Given the description of an element on the screen output the (x, y) to click on. 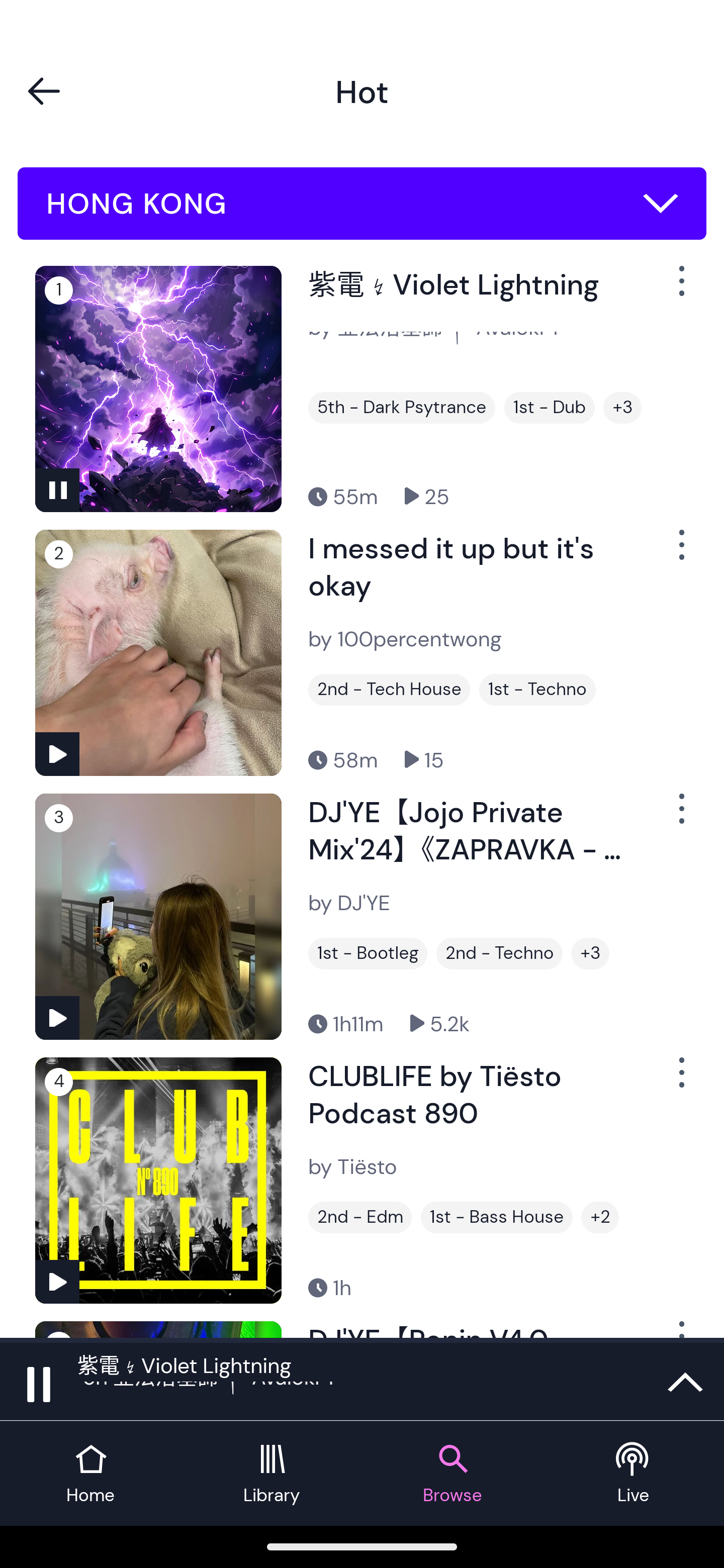
HONG KONG (361, 203)
Show Options Menu Button (679, 289)
5th - Dark Psytrance (401, 407)
1st - Dub (549, 407)
Show Options Menu Button (679, 552)
2nd - Tech House (388, 689)
1st - Techno (537, 689)
Show Options Menu Button (679, 815)
1st - Bootleg (367, 953)
2nd - Techno (499, 953)
Show Options Menu Button (679, 1079)
2nd - Edm (359, 1217)
1st - Bass House (496, 1217)
Home tab Home (90, 1473)
Library tab Library (271, 1473)
Browse tab Browse (452, 1473)
Live tab Live (633, 1473)
